Given the description of an element on the screen output the (x, y) to click on. 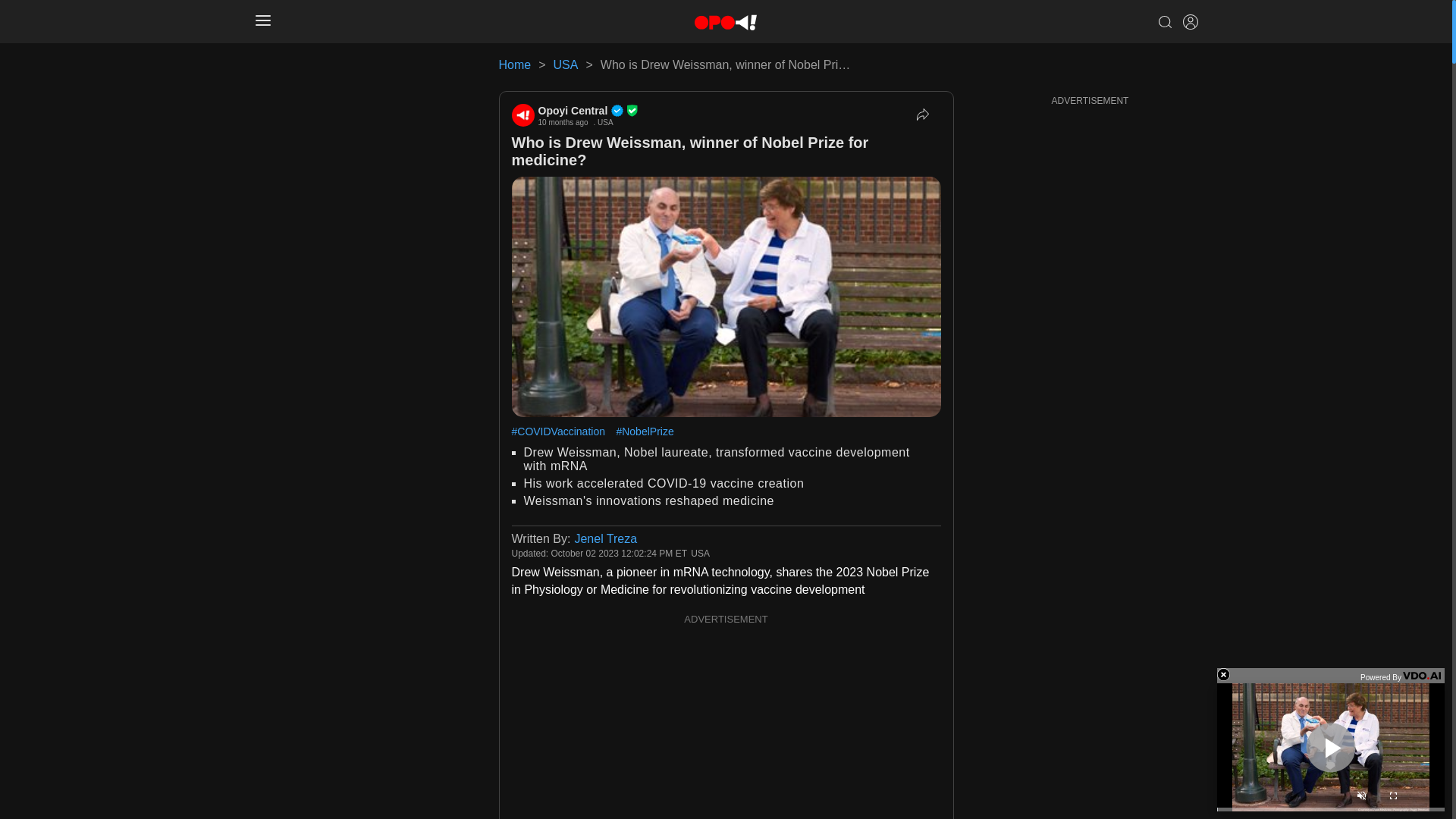
Unmute (1360, 797)
Opoyi Central (588, 110)
Fullscreen (1392, 797)
3rd party ad content (726, 724)
Play (1330, 747)
USA (565, 64)
Who is Drew Weissman, winner of Nobel Prize for medicine? (689, 151)
Opoyi Central (588, 110)
Home (515, 64)
 Opoyi Central (522, 115)
Jenel Treza (605, 538)
